Given the description of an element on the screen output the (x, y) to click on. 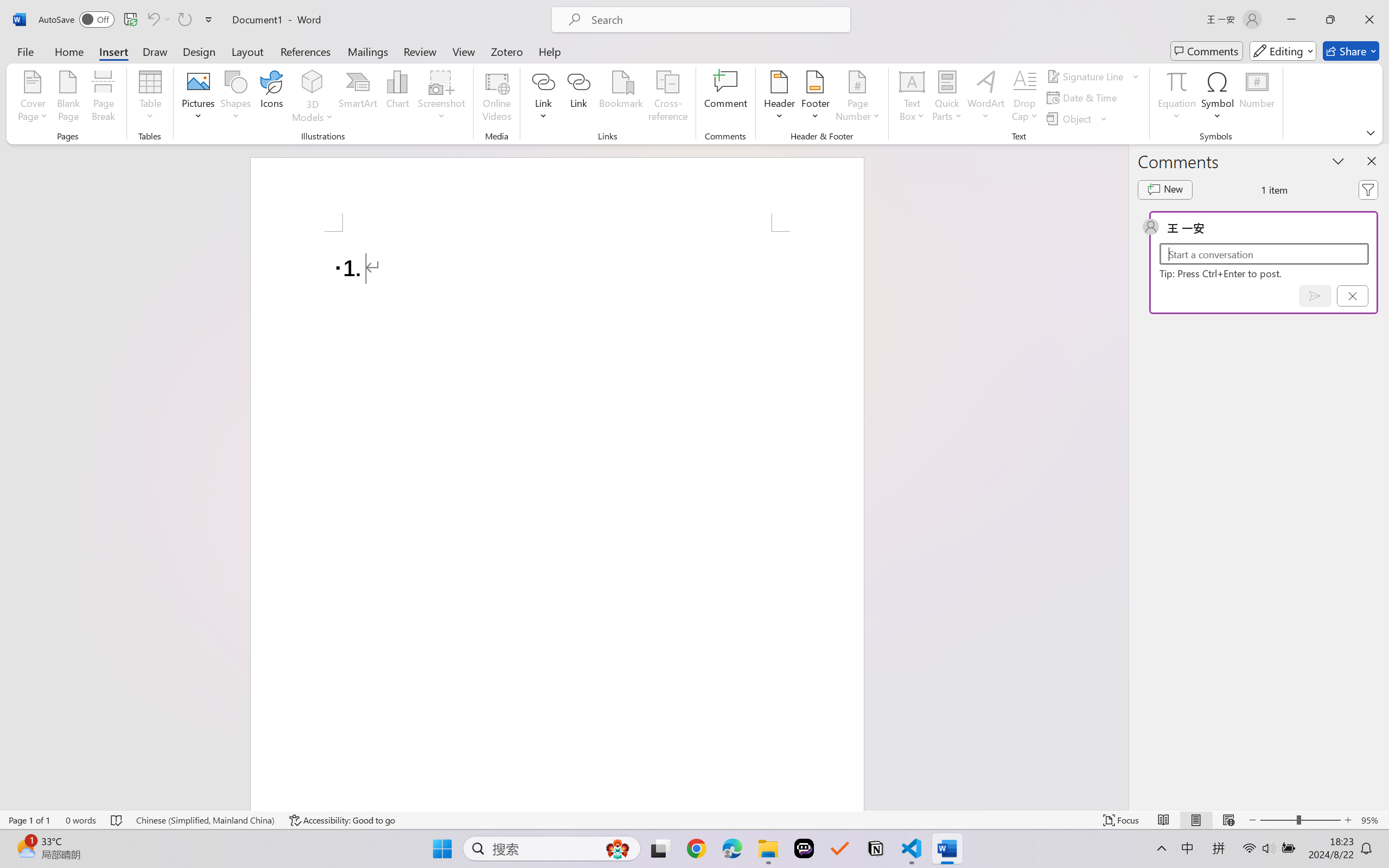
Quick Parts (946, 97)
Blank Page (67, 97)
Pictures (198, 97)
Drop Cap (1024, 97)
